Given the description of an element on the screen output the (x, y) to click on. 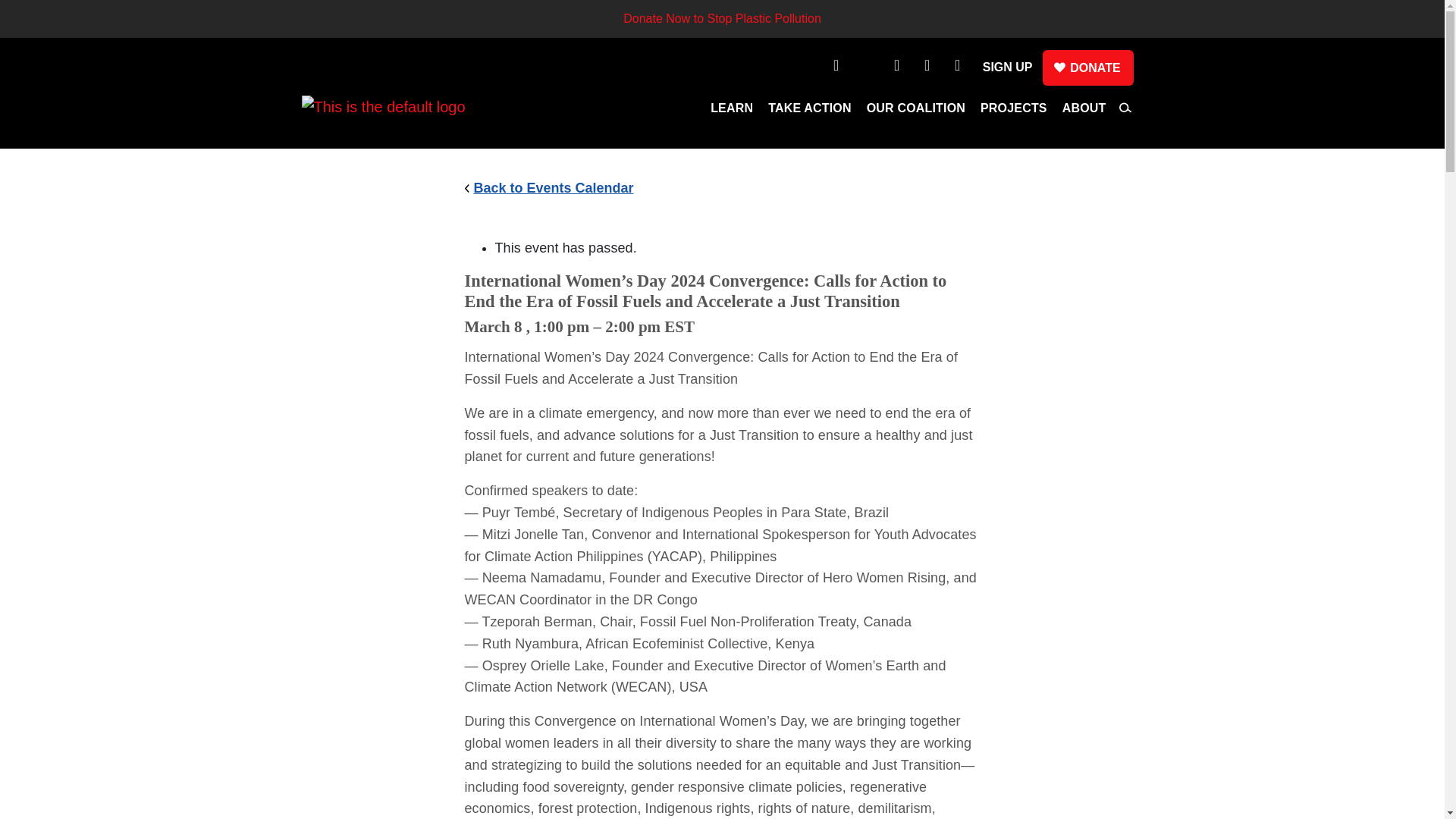
Take Action (809, 111)
PROJECTS (1012, 111)
Our Coalition (915, 111)
OUR COALITION (915, 111)
TAKE ACTION (809, 111)
DONATE (1087, 67)
SIGN UP (1007, 66)
Donate Now to Stop Plastic Pollution (721, 18)
